Given the description of an element on the screen output the (x, y) to click on. 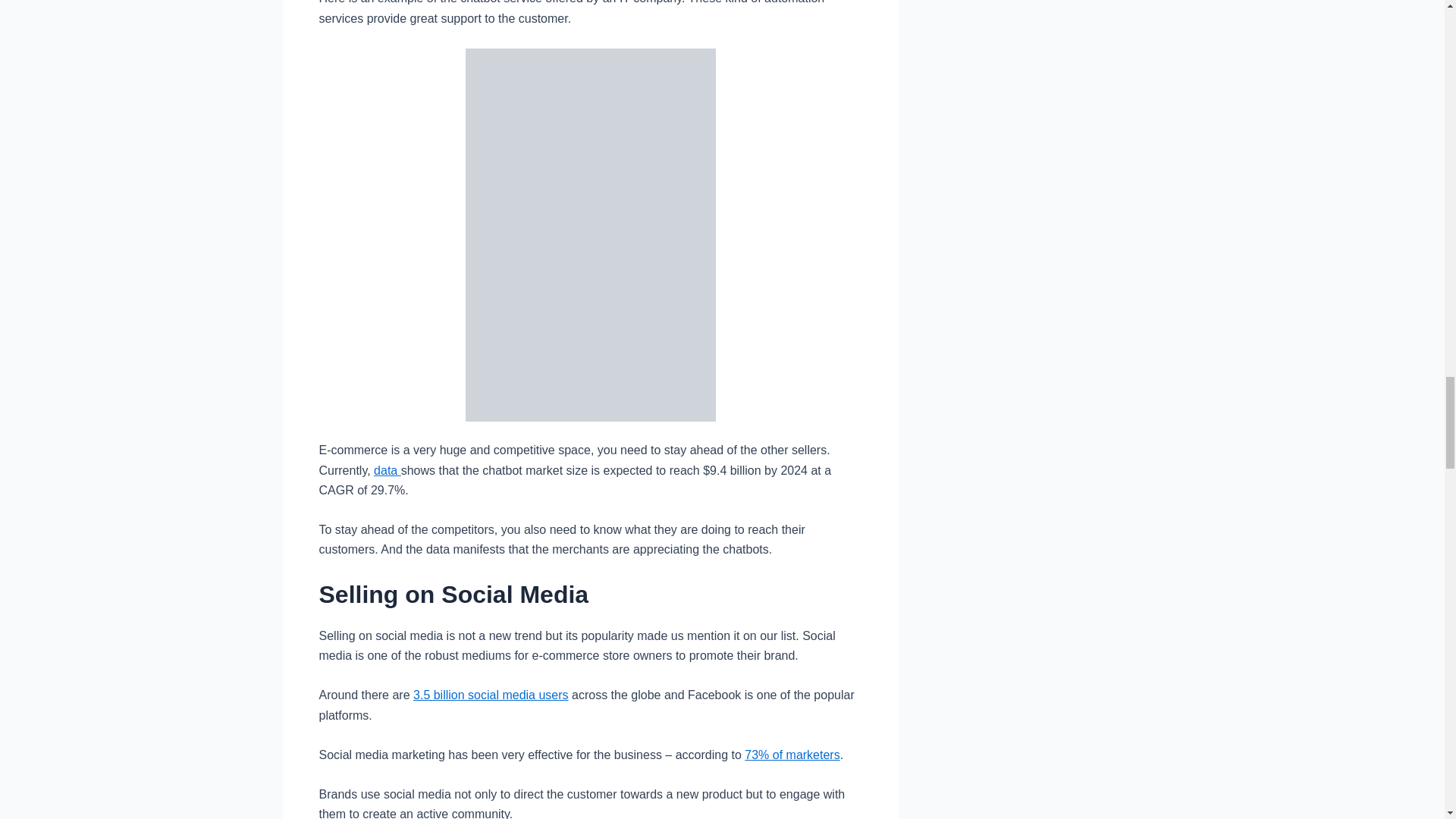
data (387, 470)
3.5 billion social media users (491, 694)
